Given the description of an element on the screen output the (x, y) to click on. 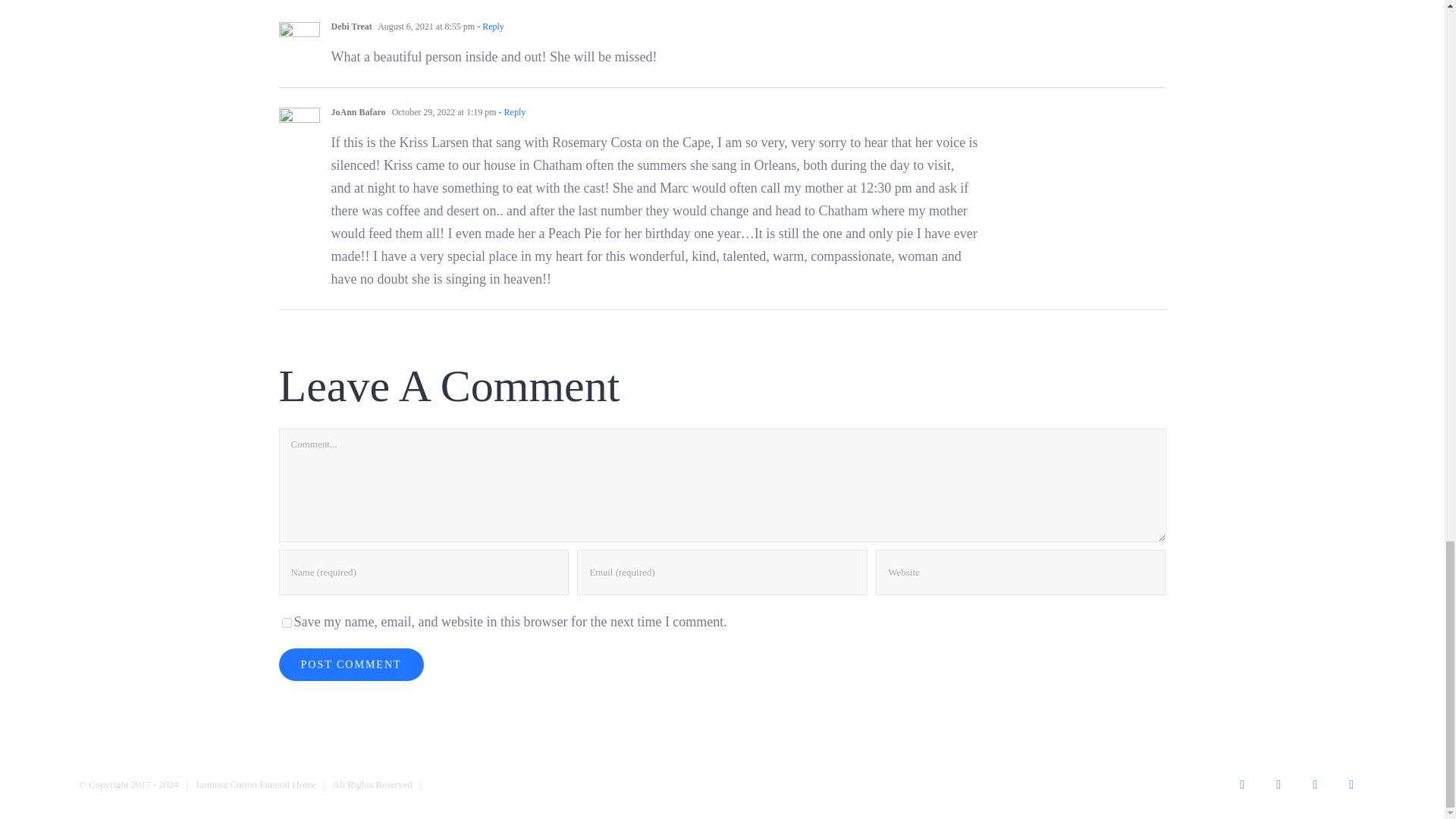
yes (287, 623)
Instagram (1314, 784)
- Reply (488, 26)
Pinterest (1350, 784)
Twitter (1277, 784)
Facebook (1241, 784)
Facebook (1241, 784)
- Reply (510, 112)
Pinterest (1350, 784)
Twitter (1277, 784)
Post Comment (351, 664)
Post Comment (351, 664)
Instagram (1314, 784)
